Given the description of an element on the screen output the (x, y) to click on. 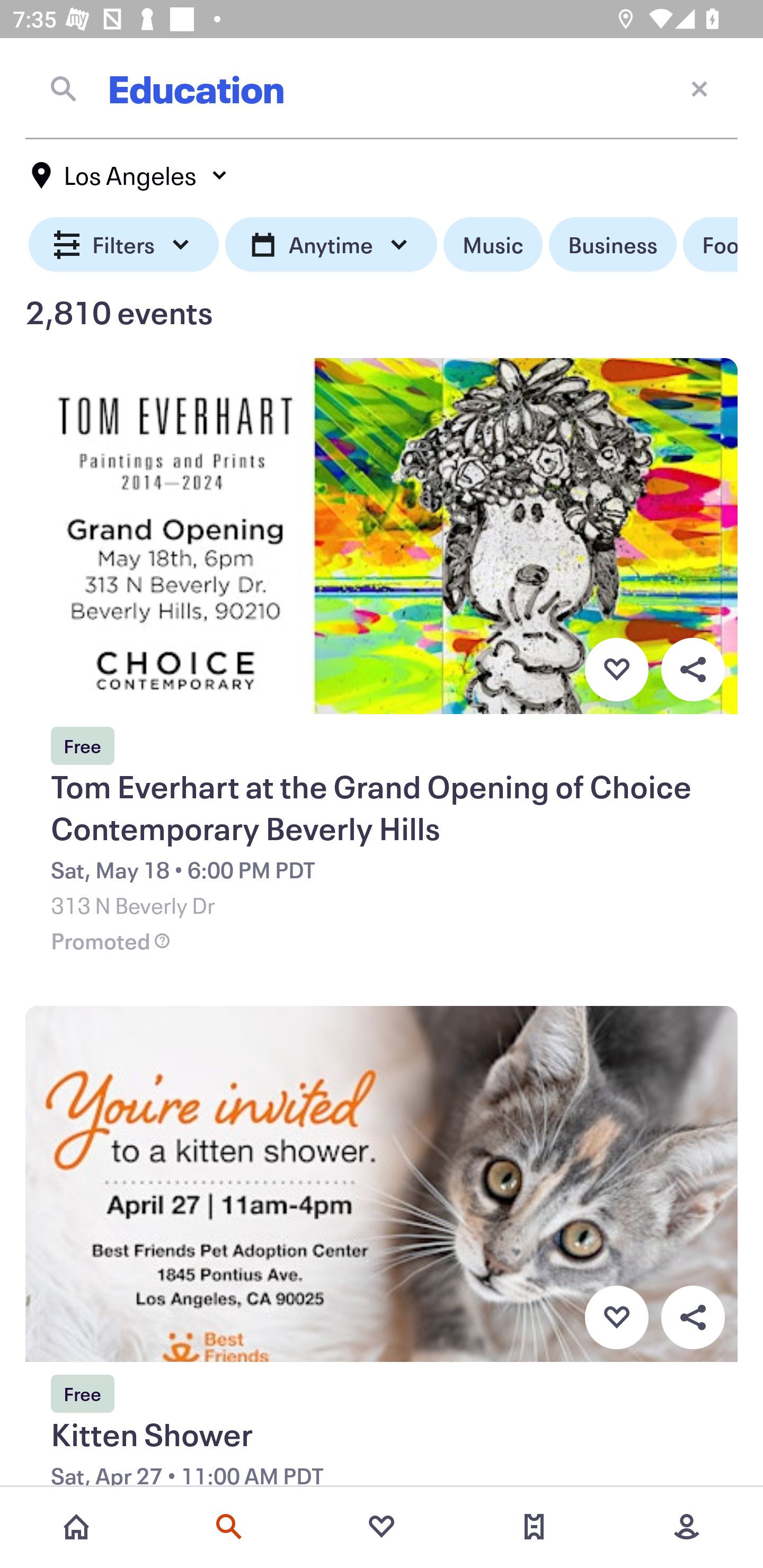
Education Close current screen (381, 88)
Close current screen (699, 88)
Los Angeles (130, 175)
Filters (123, 244)
Anytime (331, 244)
Music (492, 244)
Business (612, 244)
Favorite button (616, 669)
Overflow menu button (692, 669)
Favorite button (616, 1317)
Overflow menu button (692, 1317)
Home (76, 1526)
Search events (228, 1526)
Favorites (381, 1526)
Tickets (533, 1526)
More (686, 1526)
